Given the description of an element on the screen output the (x, y) to click on. 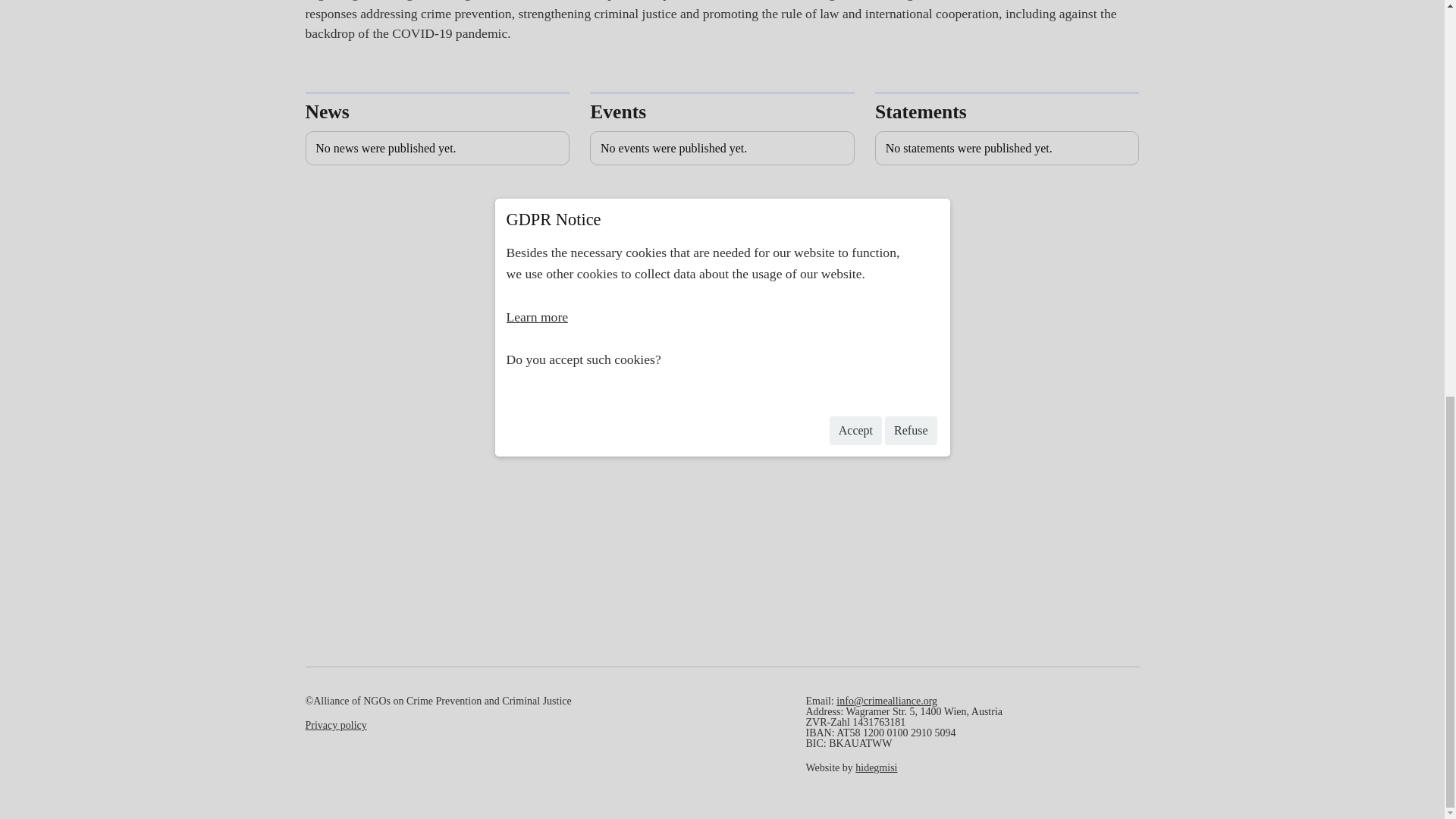
Privacy policy (335, 725)
hidegmisi (876, 767)
